Given the description of an element on the screen output the (x, y) to click on. 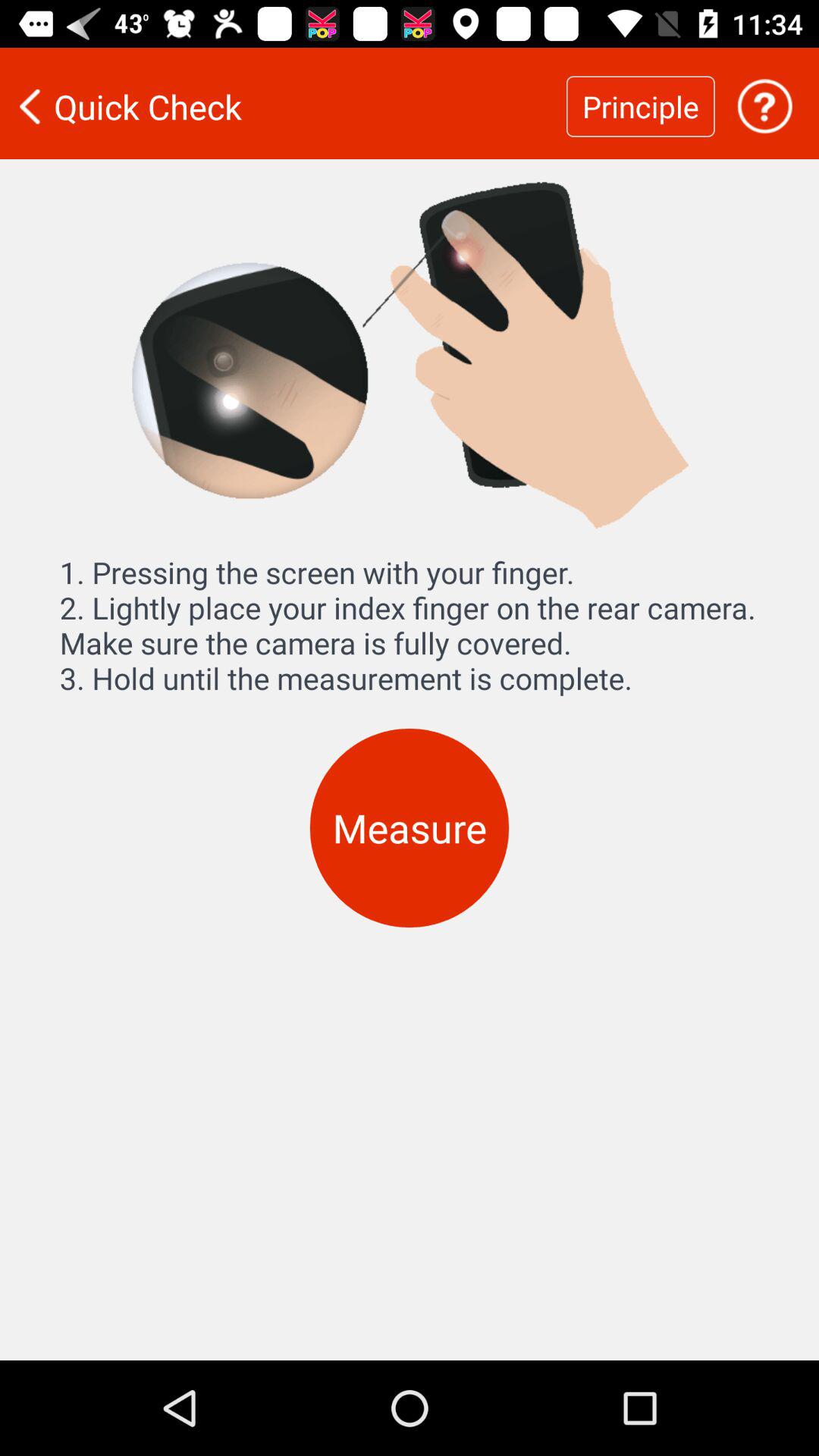
select item to the right of principle (764, 106)
